Given the description of an element on the screen output the (x, y) to click on. 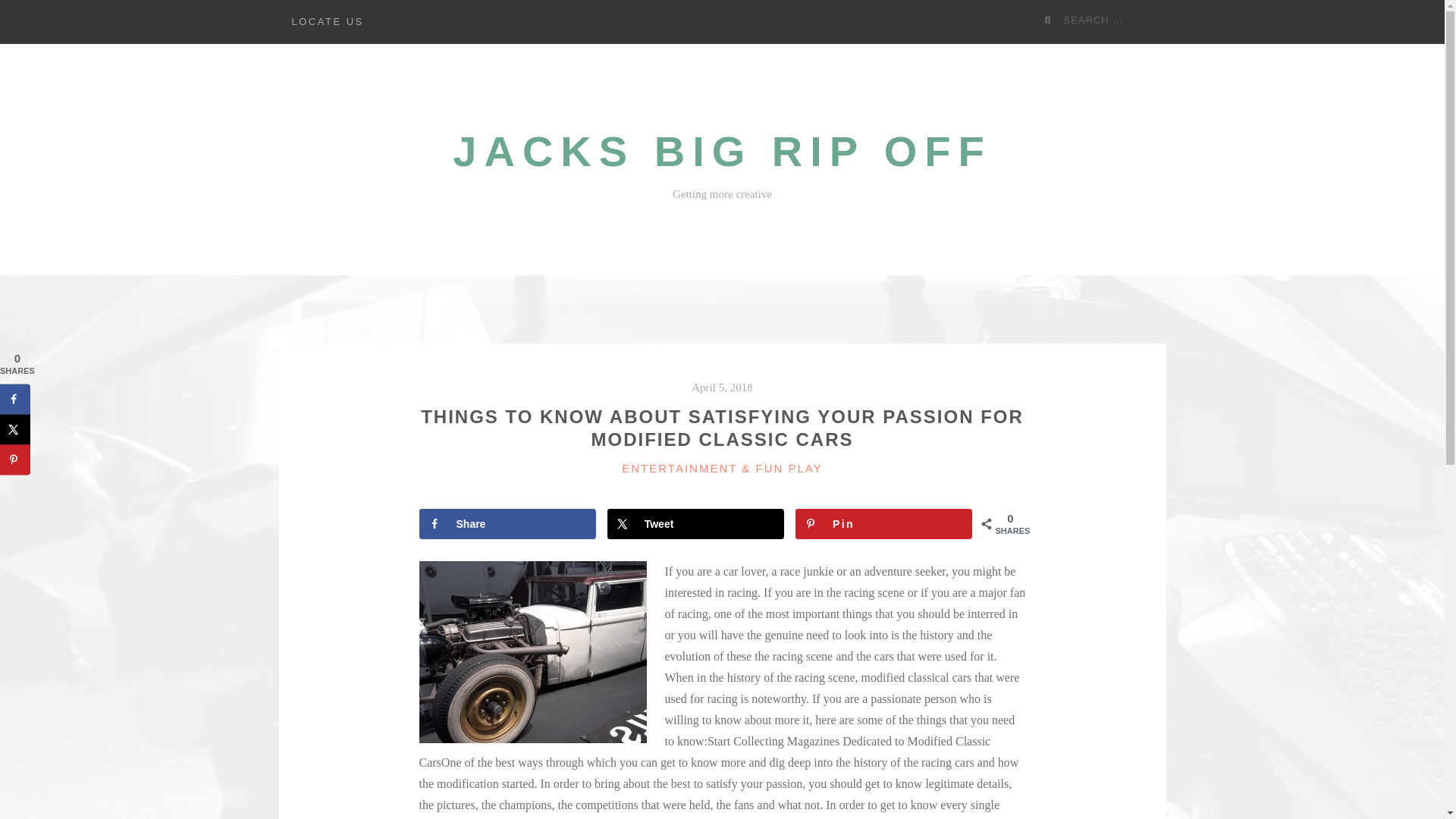
April 5, 2018 (721, 387)
Share on Facebook (507, 523)
Share (507, 523)
Share on X (15, 429)
JACKS BIG RIP OFF (721, 151)
Save to Pinterest (883, 523)
Pin (883, 523)
Share on Facebook (15, 399)
LOCATE US (328, 21)
Save to Pinterest (15, 459)
Tweet (695, 523)
Share on X (695, 523)
